Given the description of an element on the screen output the (x, y) to click on. 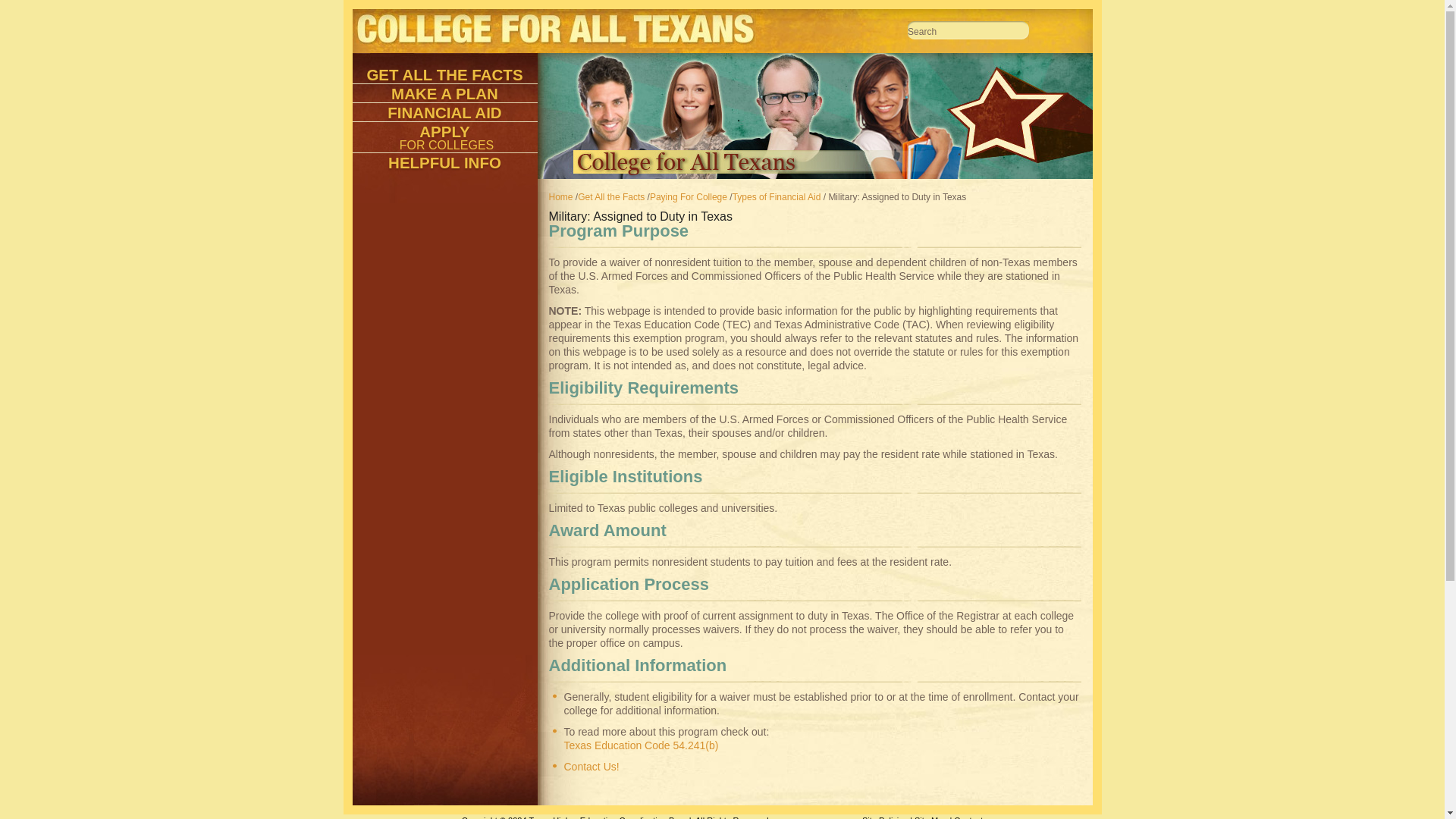
APPLY (444, 131)
FINANCIAL AID (444, 112)
Search (968, 31)
Search (968, 31)
GET ALL THE FACTS (444, 74)
Search (968, 31)
MAKE A PLAN (444, 93)
HELPFUL INFO (444, 162)
